Given the description of an element on the screen output the (x, y) to click on. 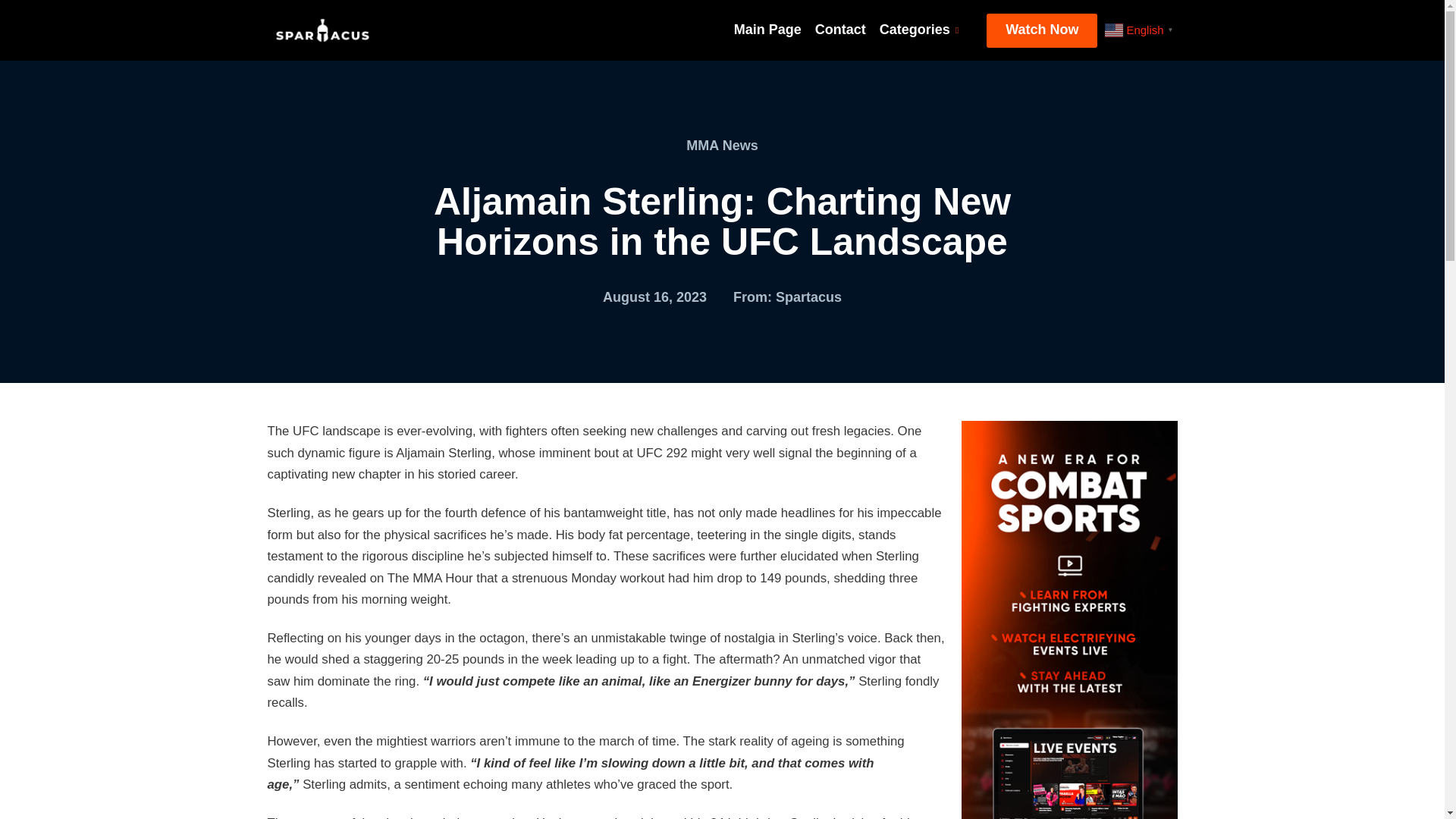
MMA News (721, 145)
Contact (840, 29)
Categories (918, 29)
Main Page (767, 29)
Watch Now (1042, 30)
